Given the description of an element on the screen output the (x, y) to click on. 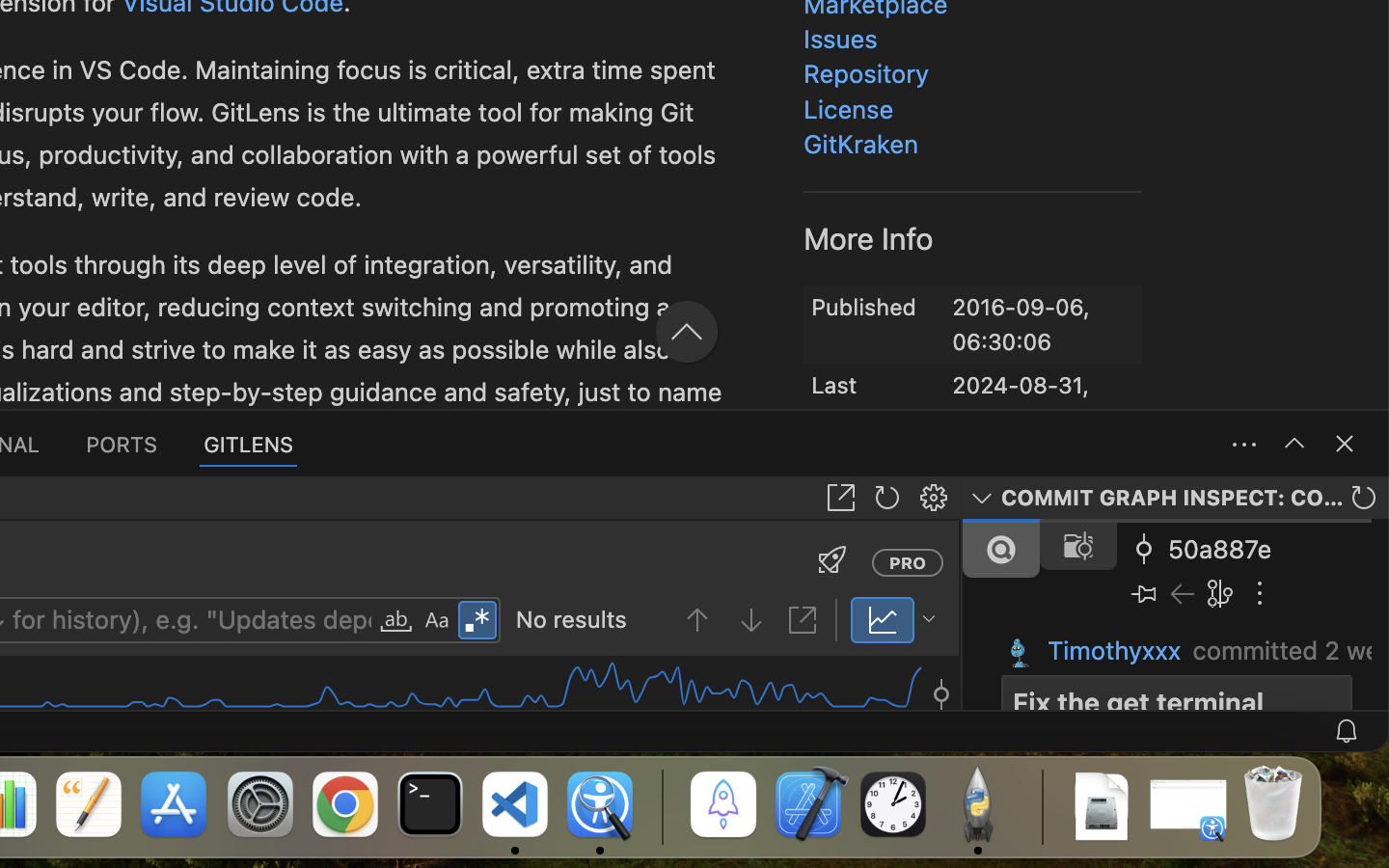
2016-09-06, 06:30:06 Element type: AXStaticText (1021, 324)
 Element type: AXButton (1344, 443)
 Element type: AXCheckBox (436, 620)
Last released Element type: AXStaticText (857, 389)
 Element type: AXStaticText (717, 208)
